Given the description of an element on the screen output the (x, y) to click on. 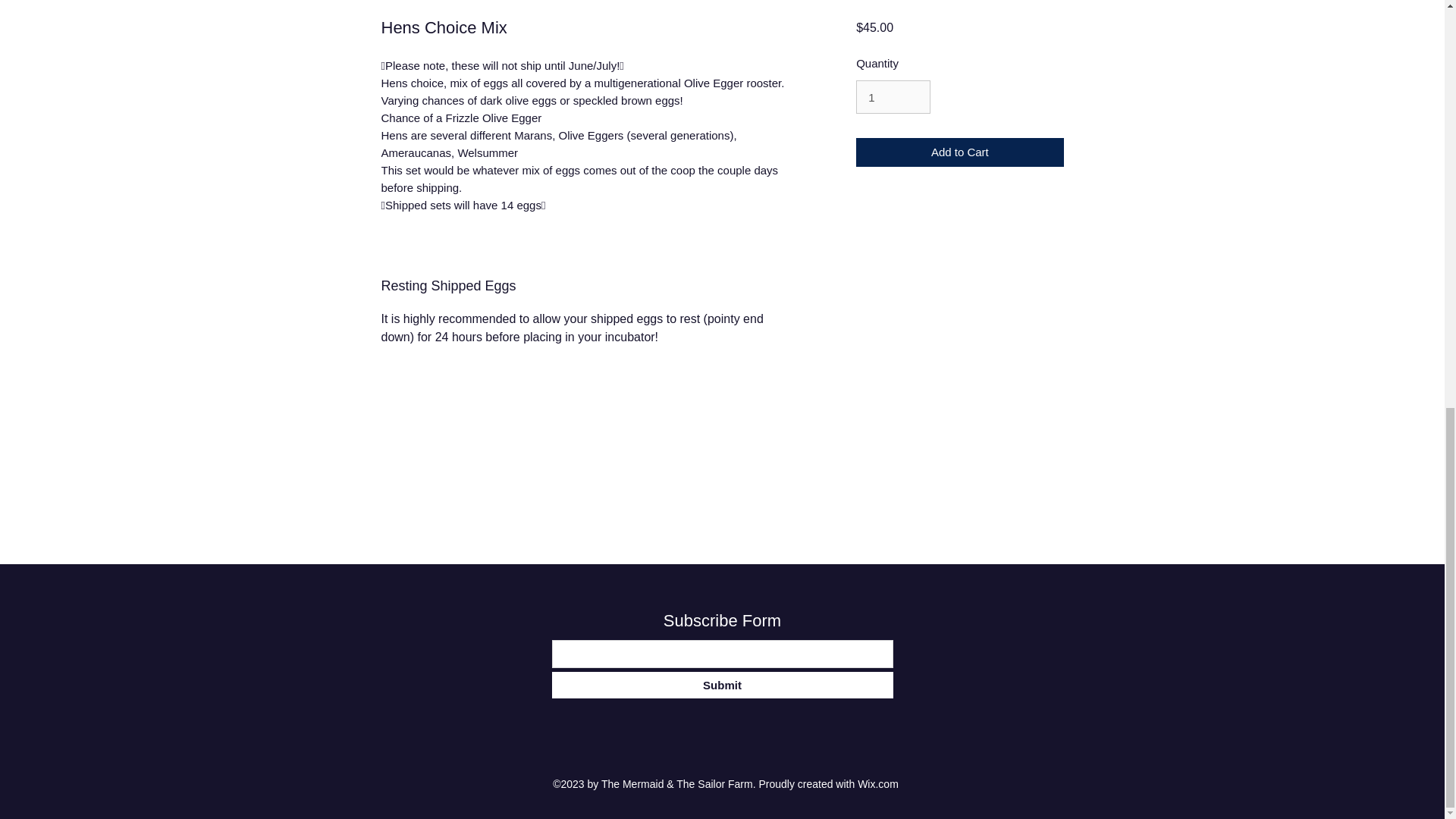
Submit (722, 684)
Add to Cart (959, 152)
1 (893, 96)
